Given the description of an element on the screen output the (x, y) to click on. 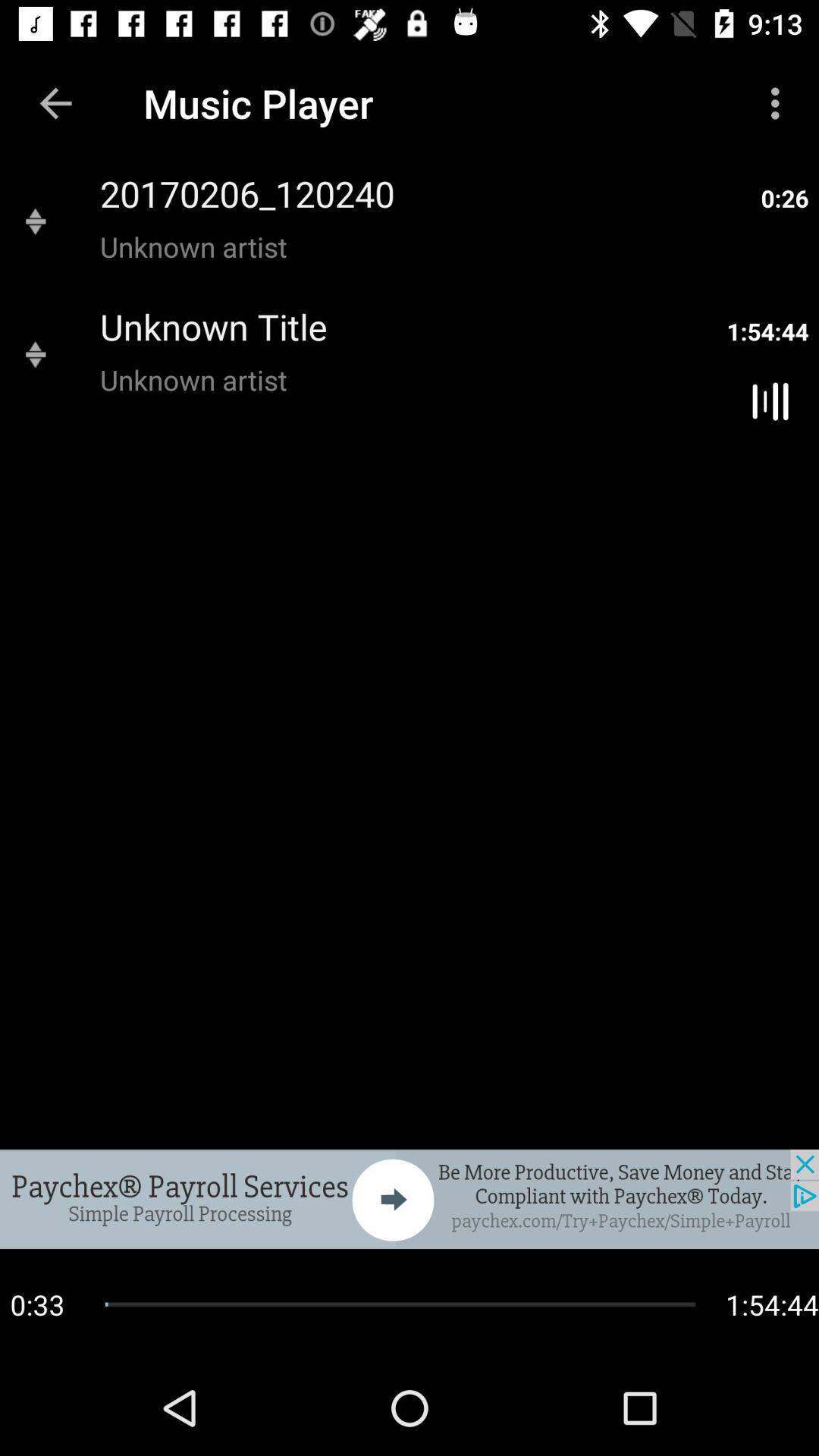
advertisement (409, 1198)
